Given the description of an element on the screen output the (x, y) to click on. 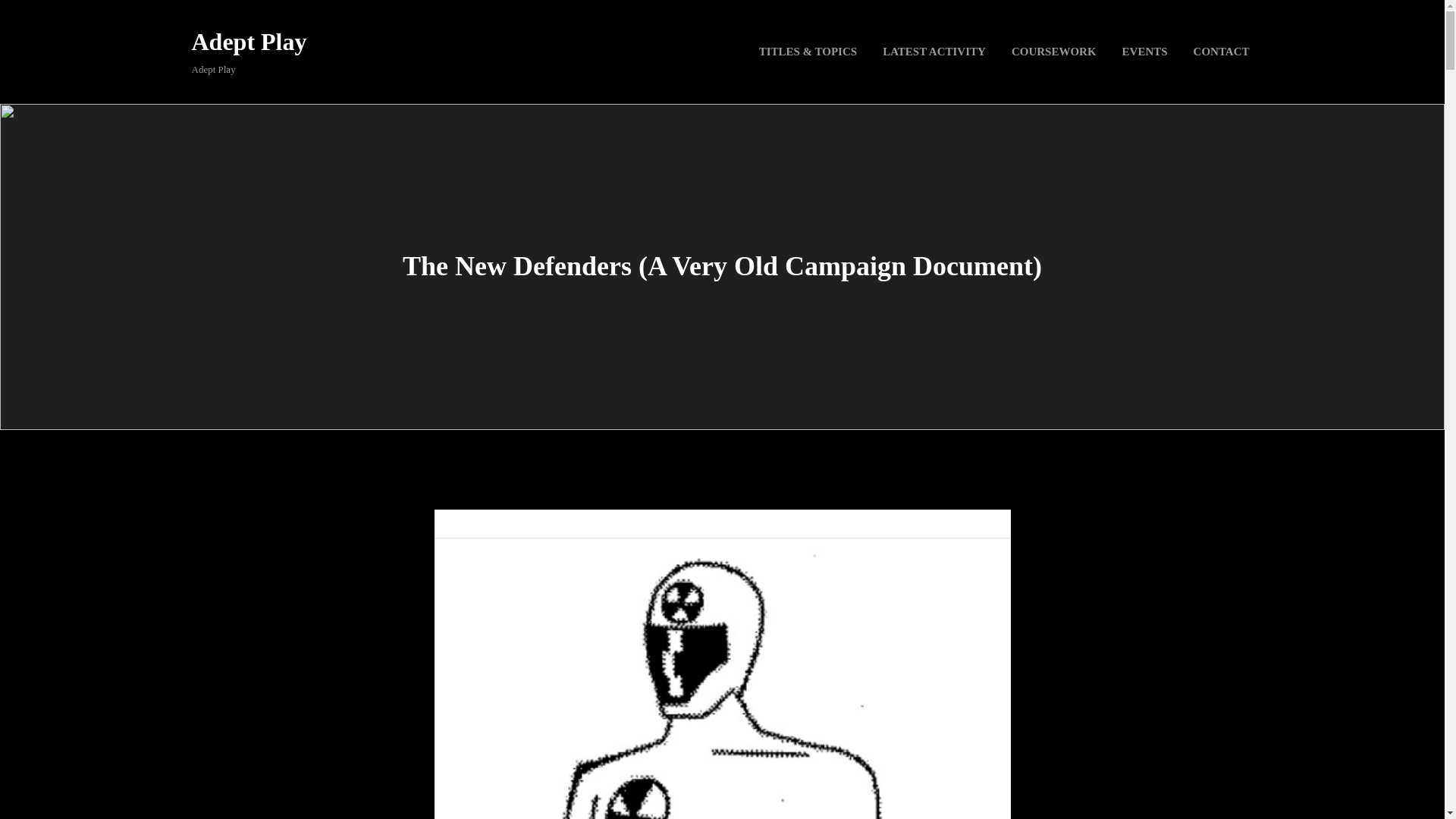
Adept Play (247, 41)
COURSEWORK (1053, 51)
EVENTS (1145, 51)
CONTACT (1221, 51)
LATEST ACTIVITY (934, 51)
